Given the description of an element on the screen output the (x, y) to click on. 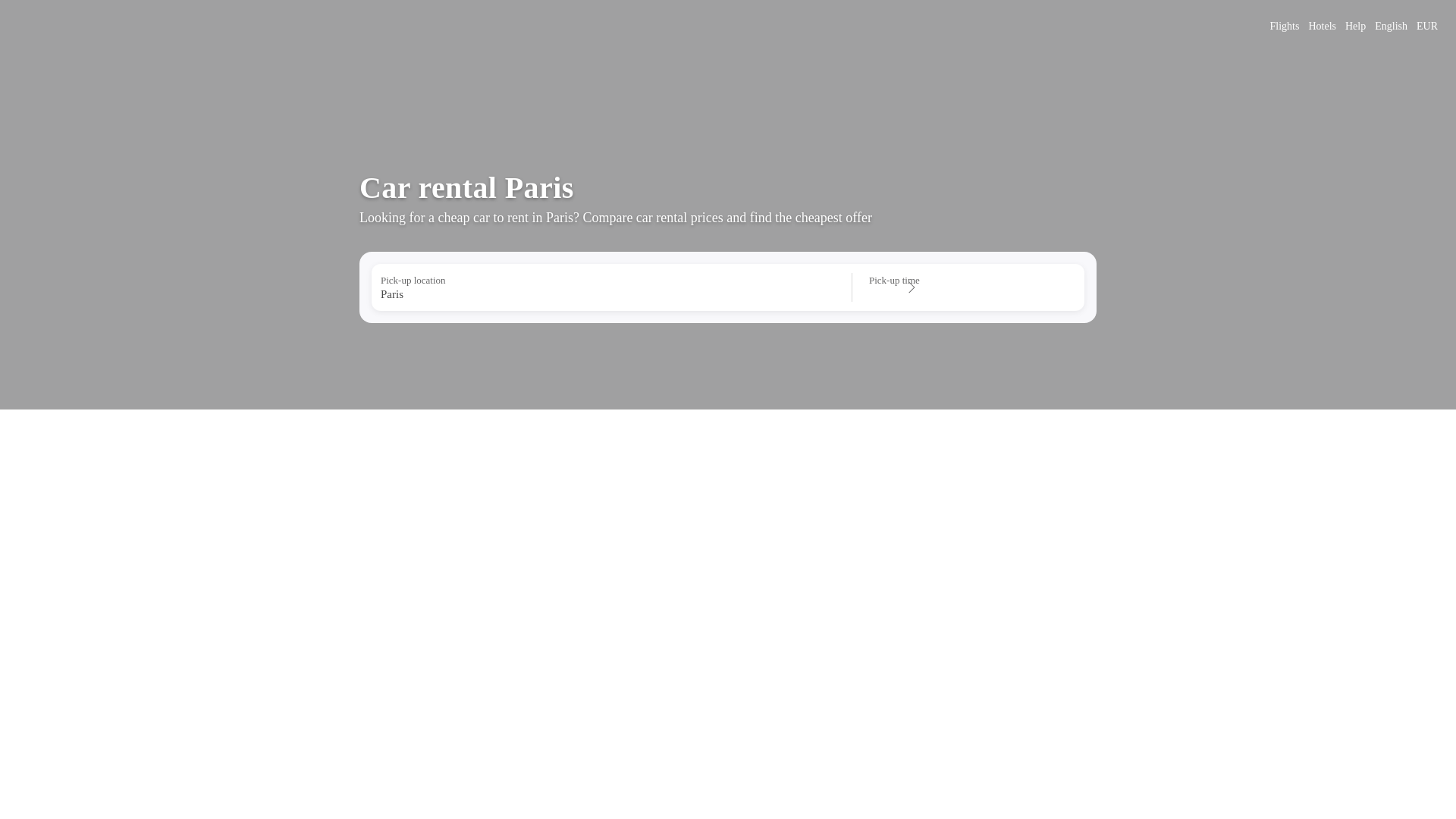
English (1390, 26)
EUR (1427, 26)
Paris (605, 294)
Flights (1284, 26)
English (1390, 26)
Help (1355, 26)
Hotels (1321, 26)
